Given the description of an element on the screen output the (x, y) to click on. 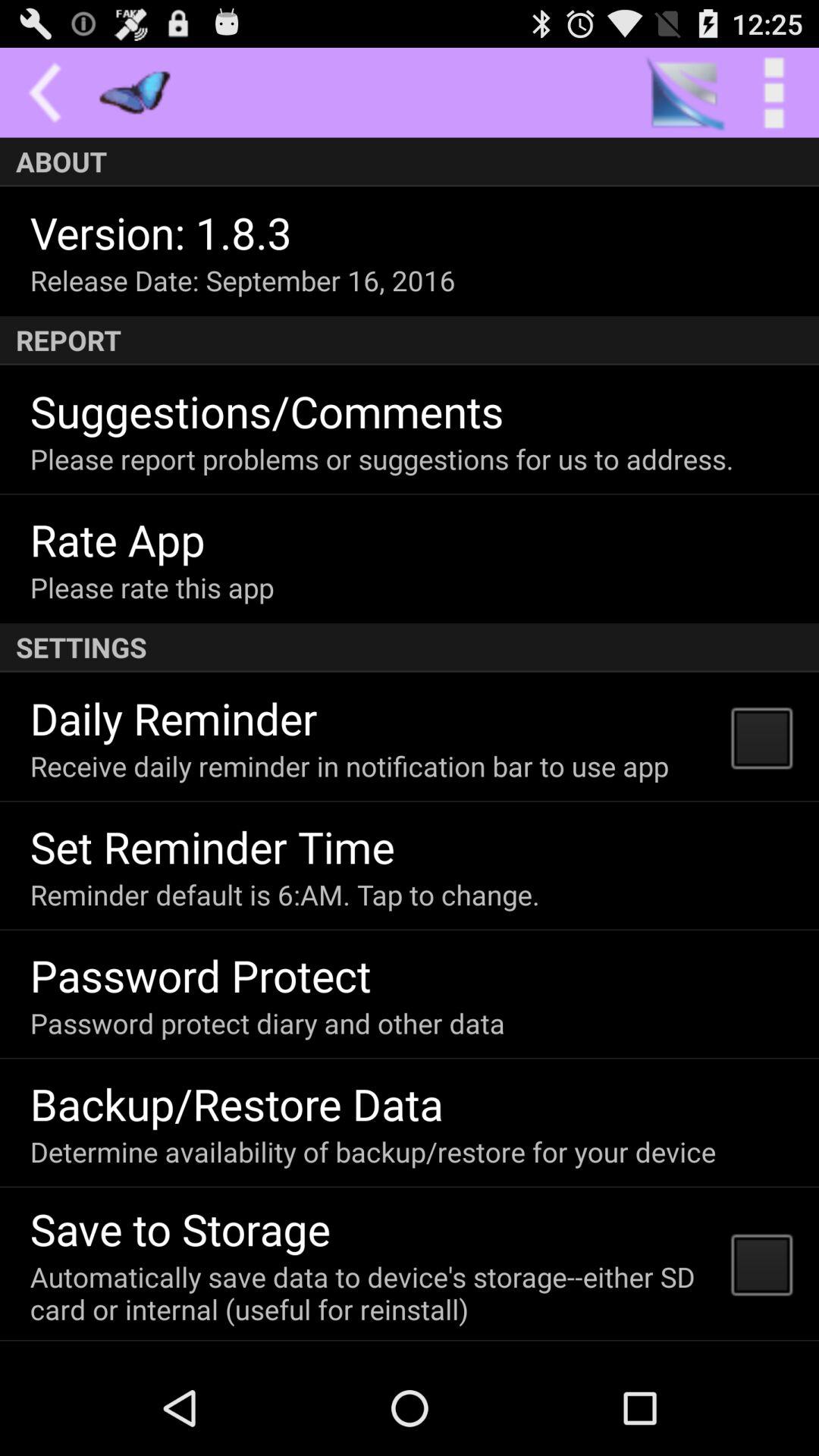
tap the icon below please rate this app (409, 647)
